Given the description of an element on the screen output the (x, y) to click on. 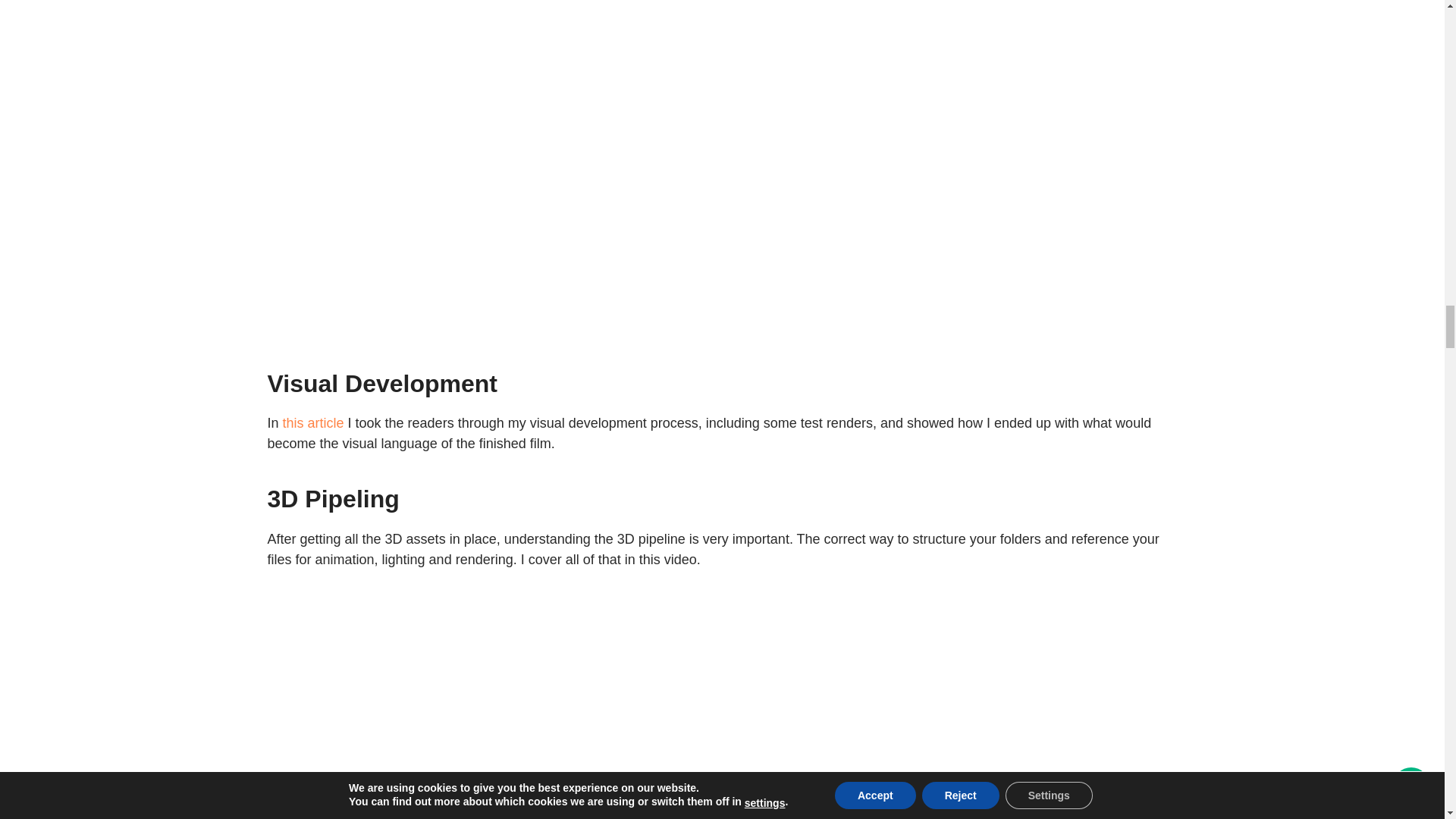
this article (312, 422)
